Given the description of an element on the screen output the (x, y) to click on. 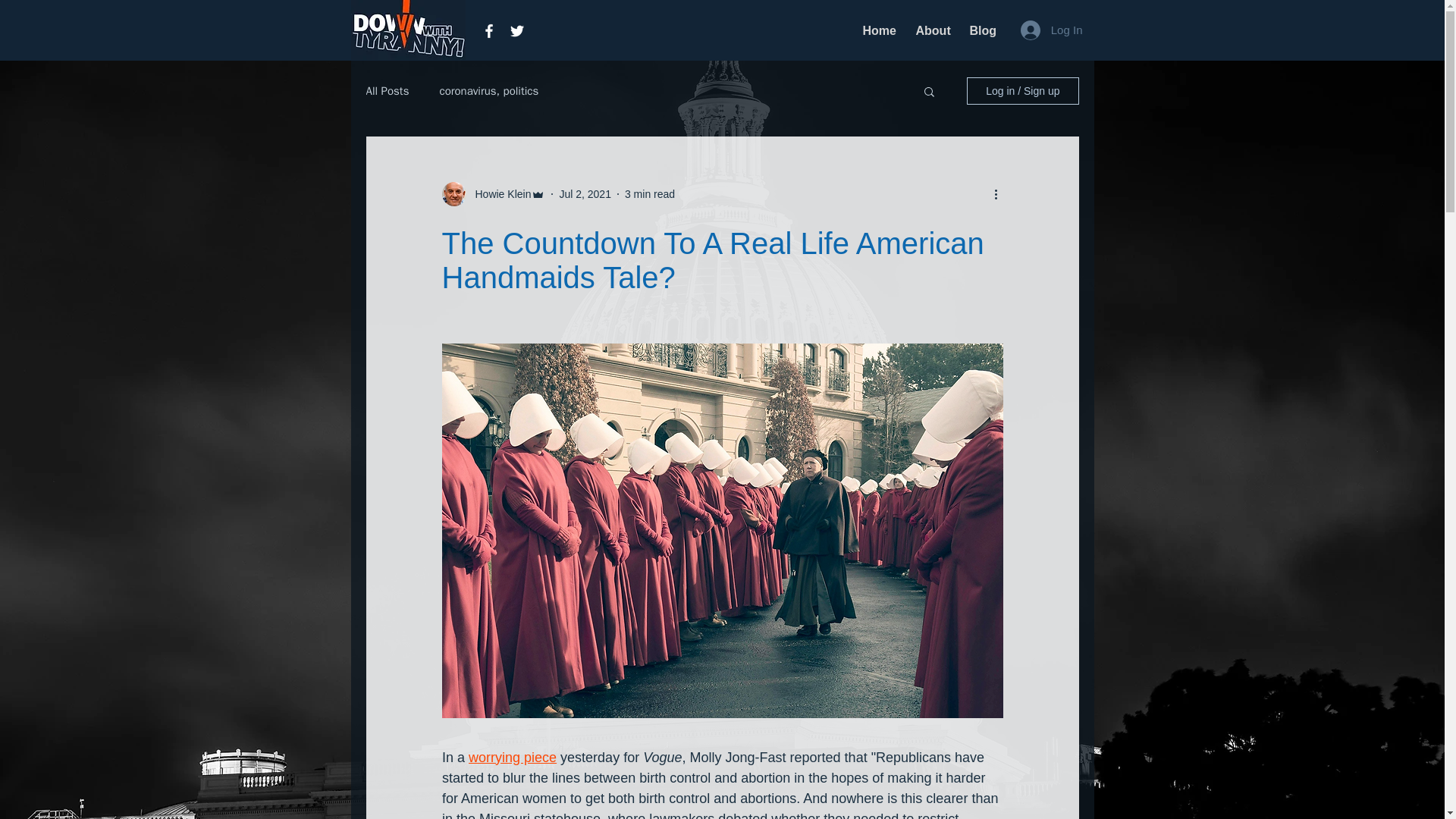
Log In (1051, 29)
All Posts (387, 90)
worrying piece (512, 756)
Blog (981, 30)
coronavirus, politics (488, 90)
Home (877, 30)
3 min read (649, 193)
About (931, 30)
Jul 2, 2021 (585, 193)
Howie Klein (492, 193)
